Given the description of an element on the screen output the (x, y) to click on. 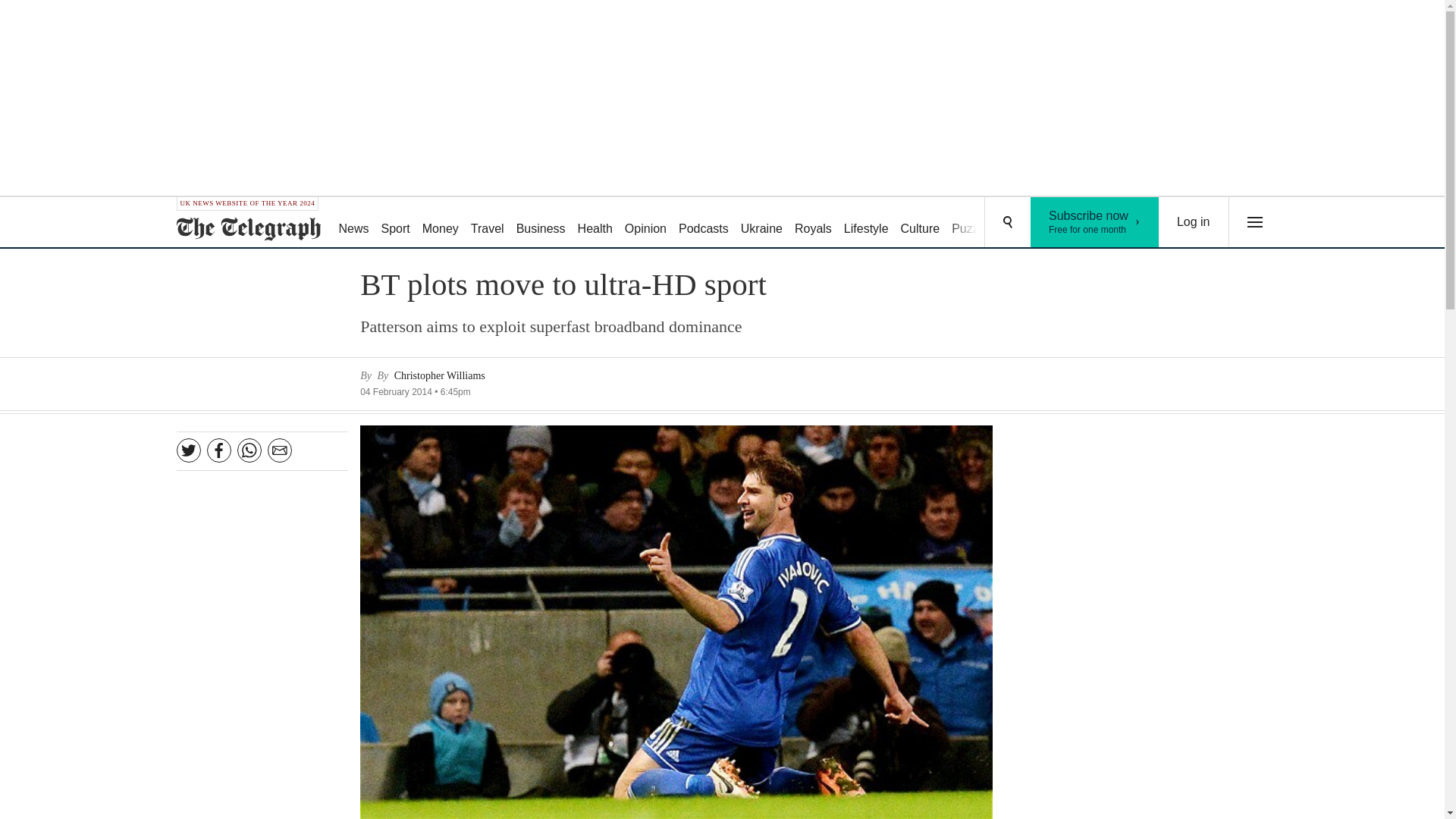
Royals (813, 223)
Ukraine (762, 223)
Health (595, 223)
Travel (487, 223)
Business (541, 223)
Money (440, 223)
Culture (920, 223)
Log in (1193, 222)
Lifestyle (866, 223)
Opinion (645, 223)
Puzzles (1094, 222)
Podcasts (972, 223)
